Given the description of an element on the screen output the (x, y) to click on. 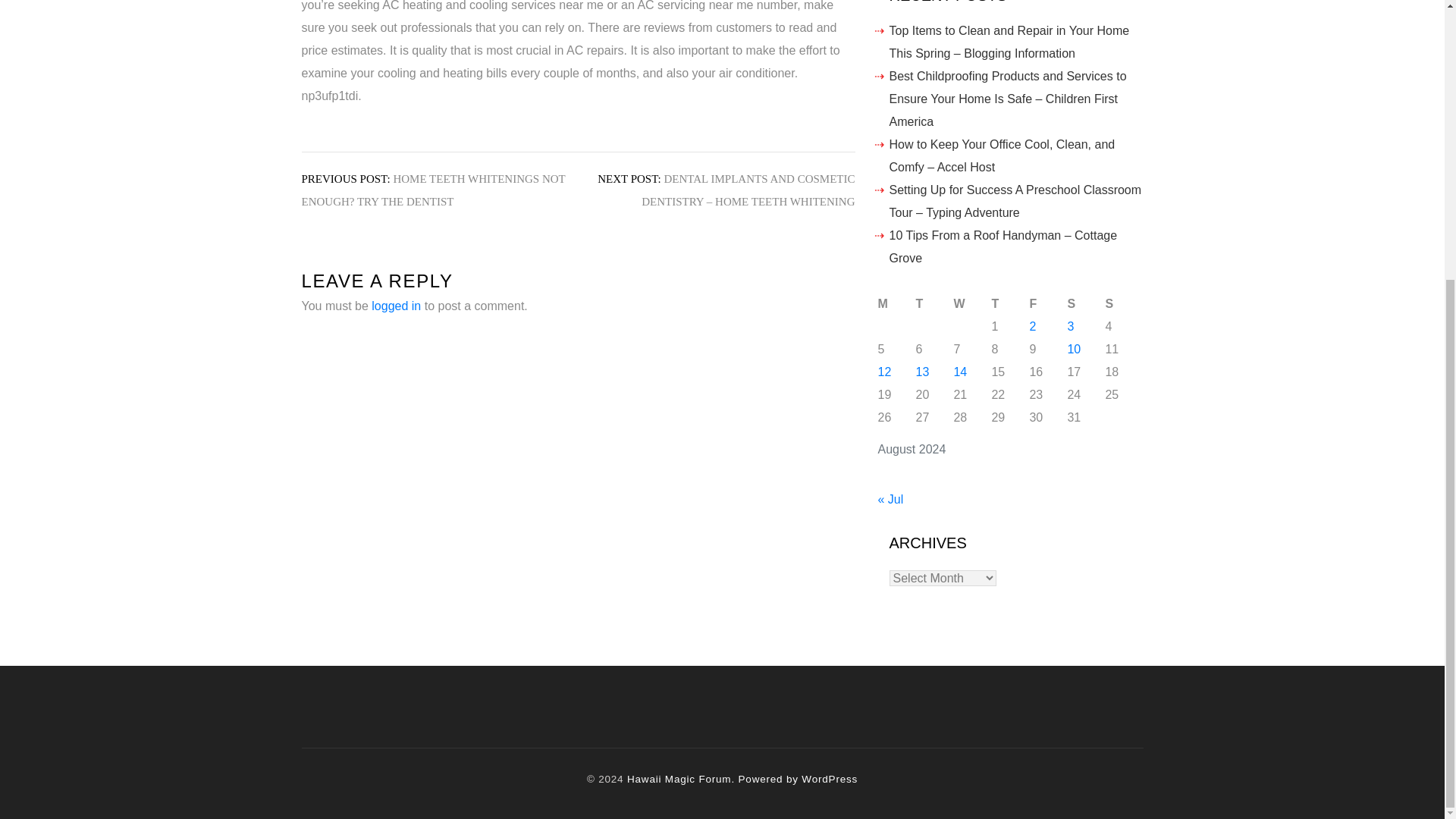
13 (921, 371)
10 (1073, 349)
12 (884, 371)
Friday (1048, 303)
Monday (896, 303)
Wednesday (972, 303)
14 (959, 371)
logged in (395, 305)
Saturday (1086, 303)
